Given the description of an element on the screen output the (x, y) to click on. 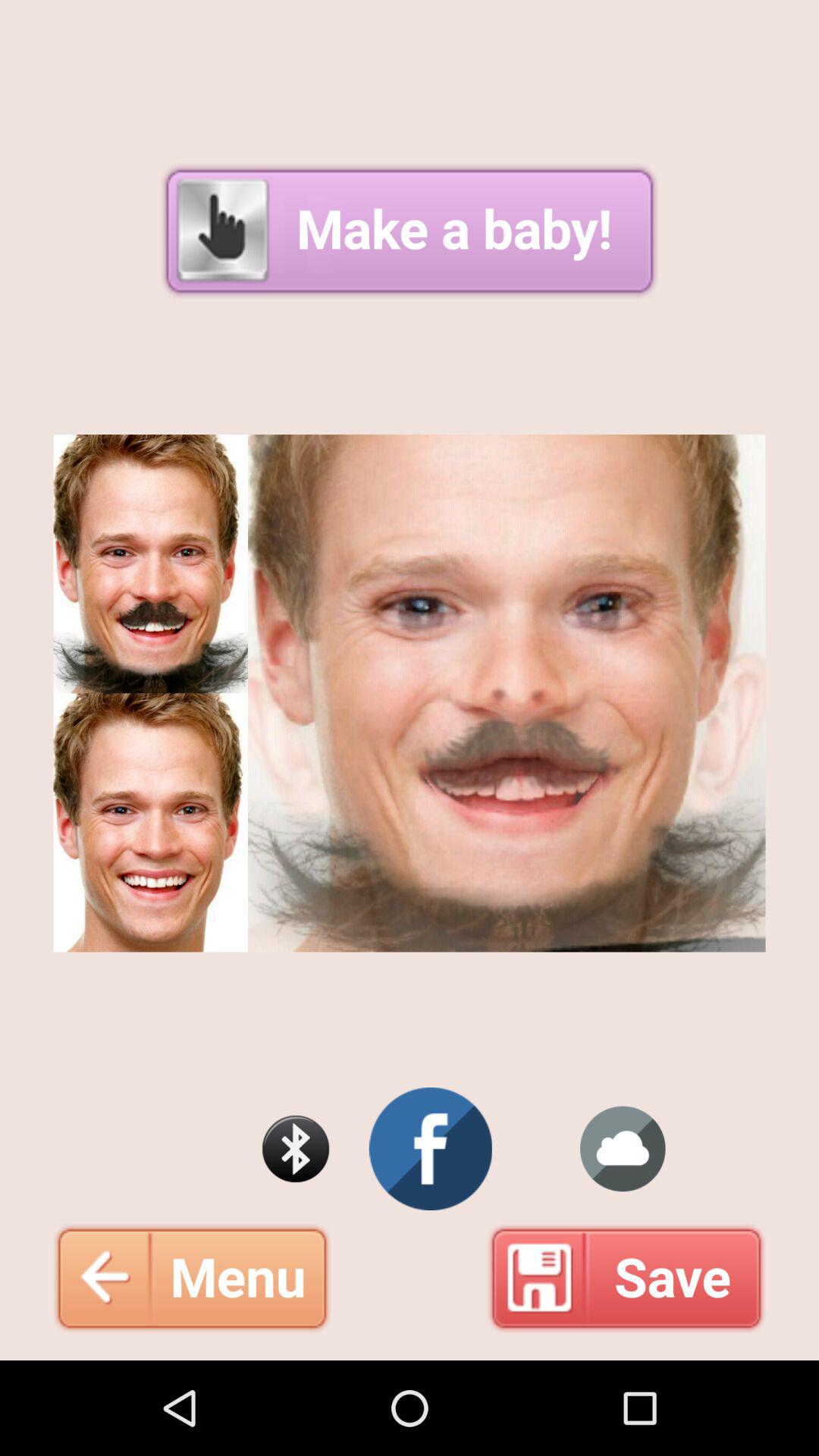
tap the menu at the bottom left corner (192, 1278)
